Given the description of an element on the screen output the (x, y) to click on. 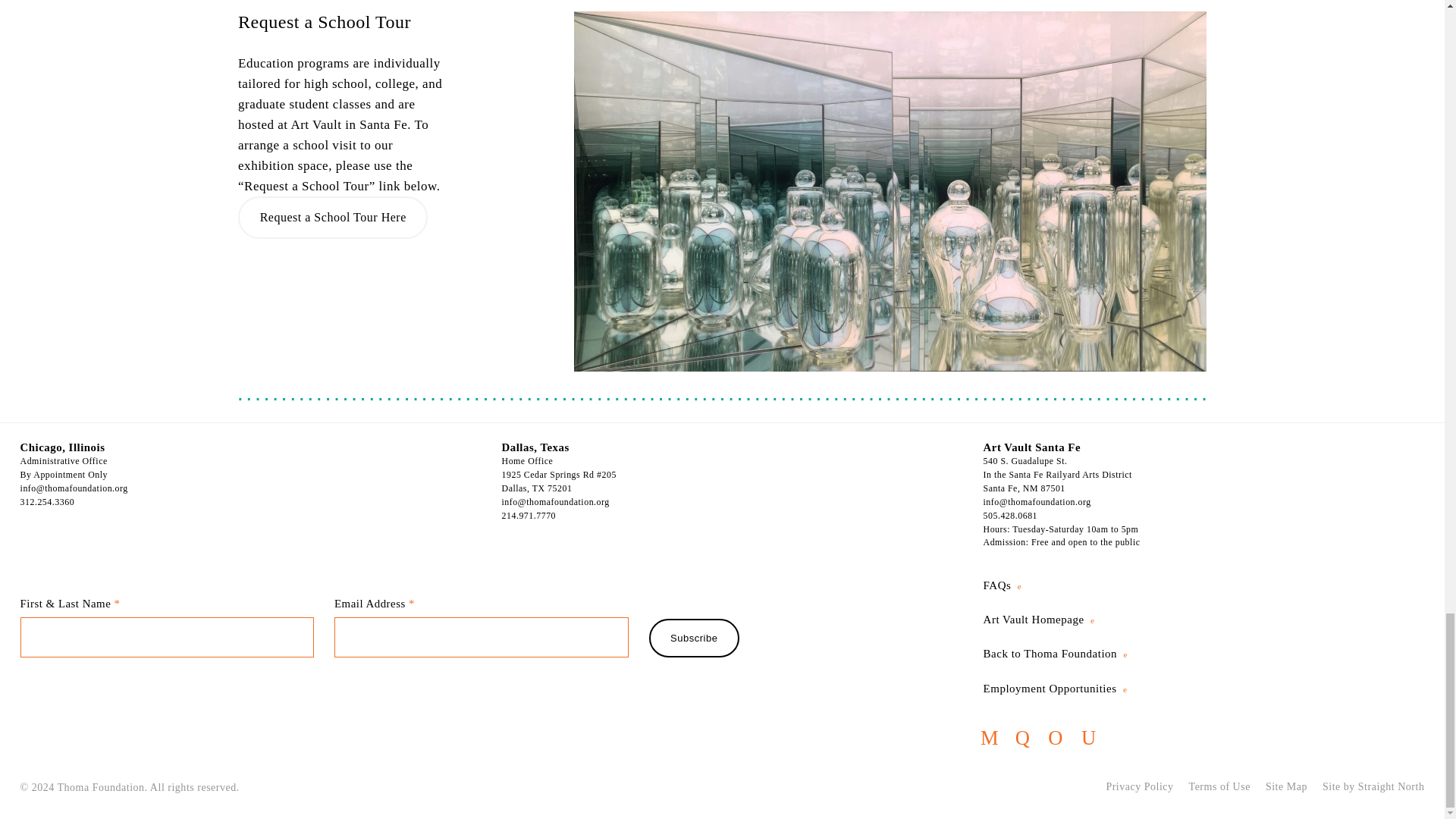
Subscribe (694, 638)
Back to Thoma Foundation (1055, 653)
Employment Opportunities (1055, 688)
Art Vault Homepage (1039, 619)
Subscribe (694, 638)
FAQs (1003, 585)
Request a School Tour Here (333, 217)
